Given the description of an element on the screen output the (x, y) to click on. 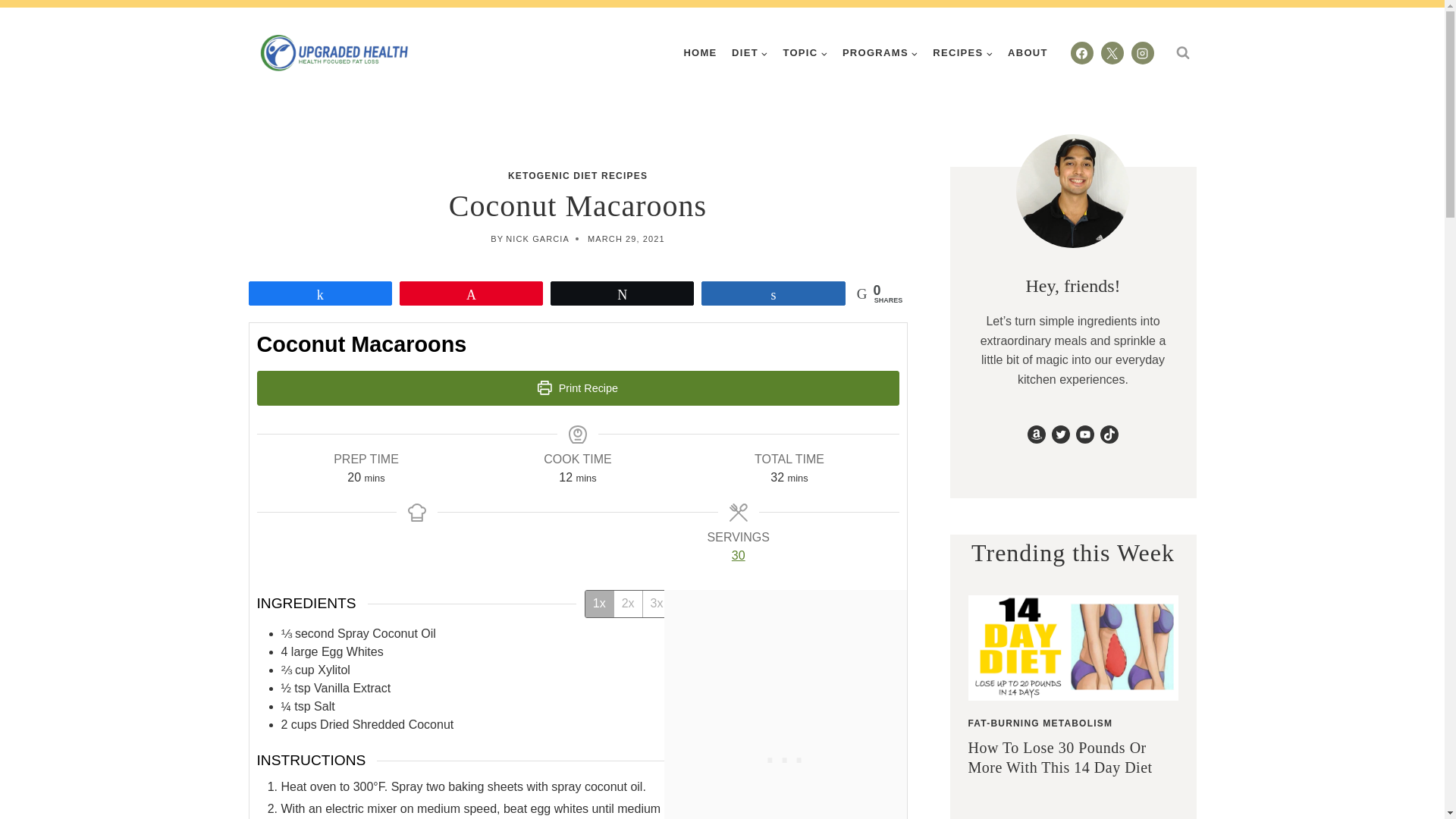
DIET (748, 51)
TOPIC (805, 51)
ABOUT (1027, 51)
HOME (701, 51)
RECIPES (963, 51)
PROGRAMS (879, 51)
